Given the description of an element on the screen output the (x, y) to click on. 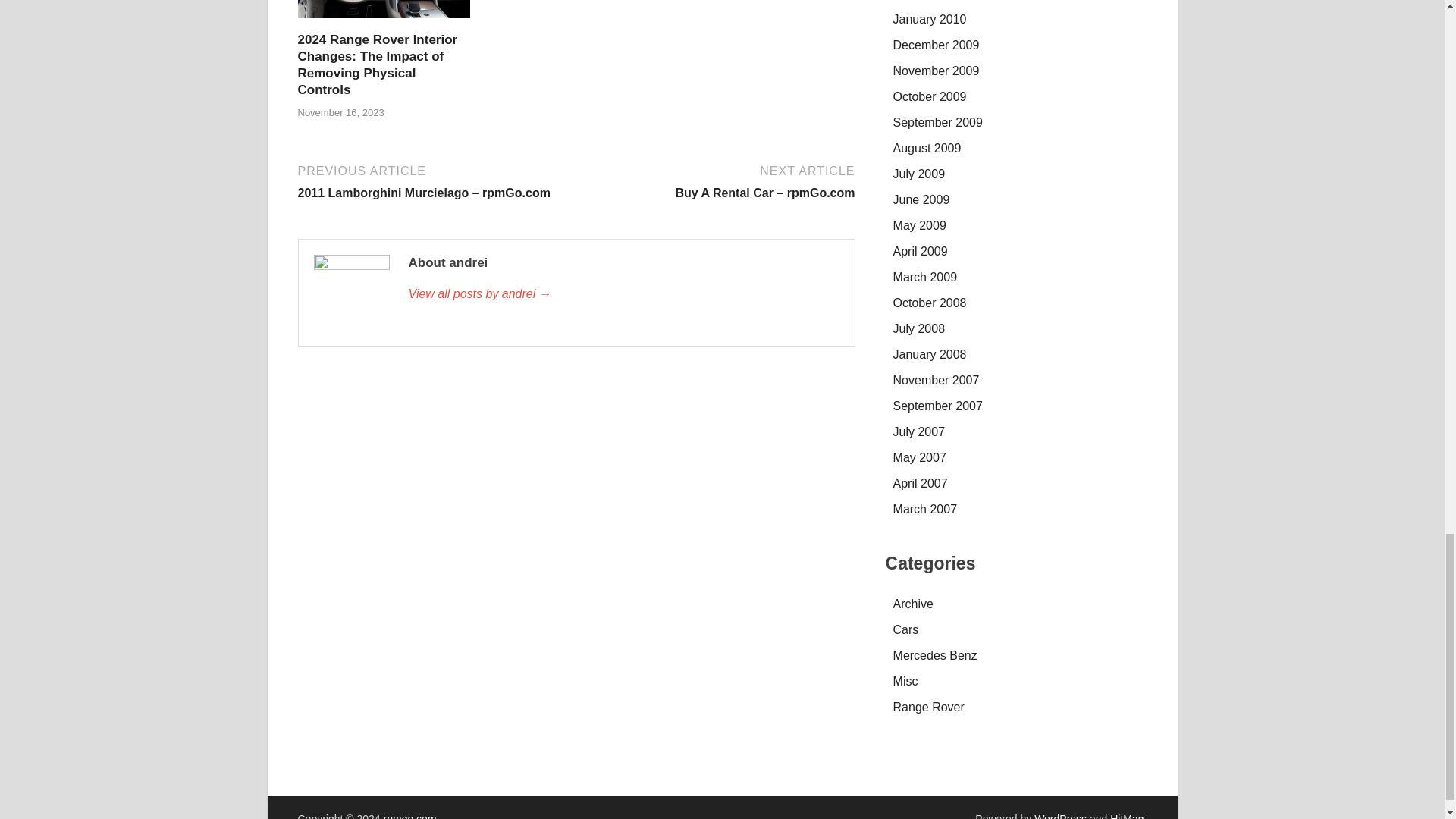
andrei (622, 294)
